Given the description of an element on the screen output the (x, y) to click on. 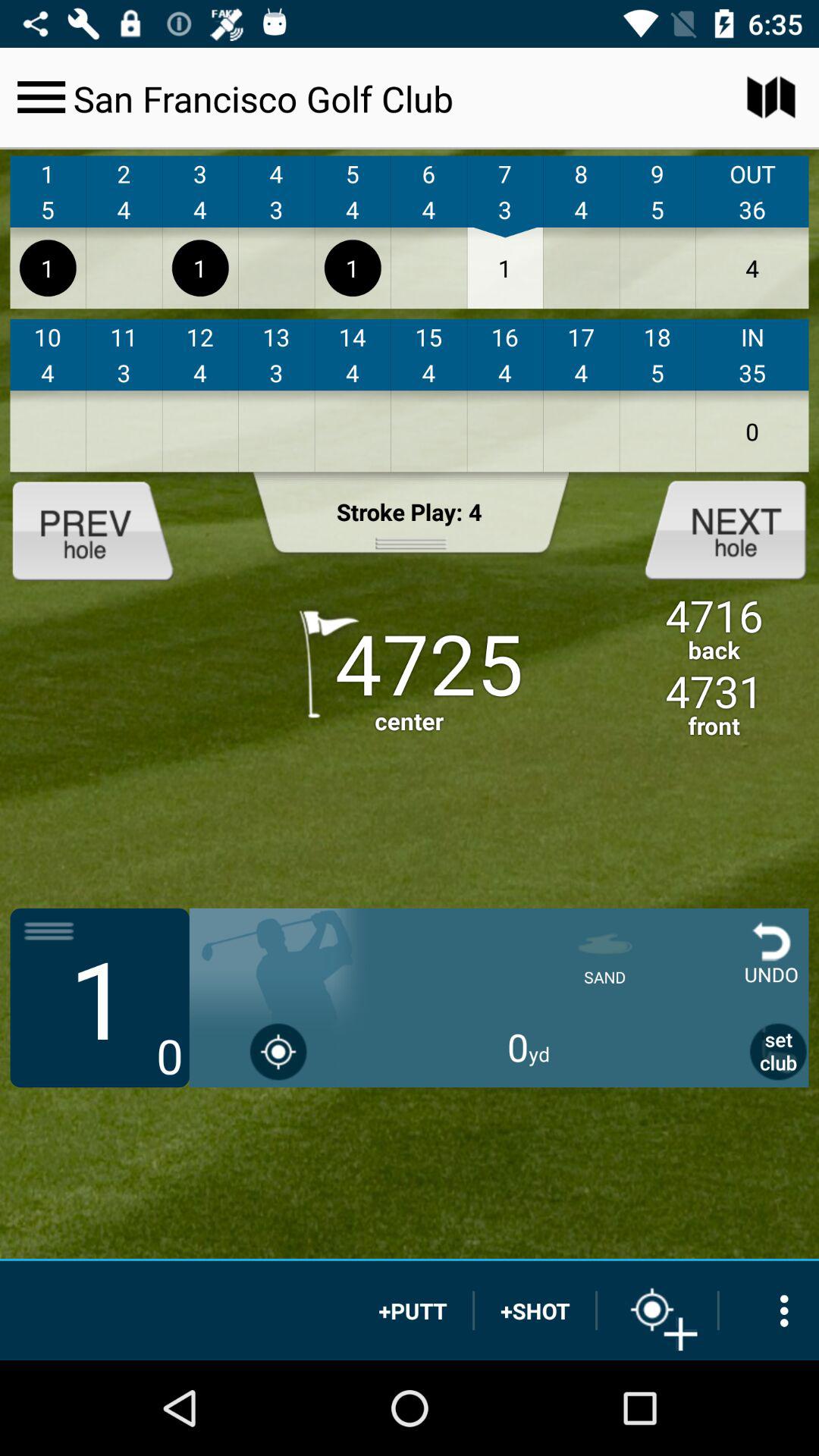
add location (657, 1310)
